Given the description of an element on the screen output the (x, y) to click on. 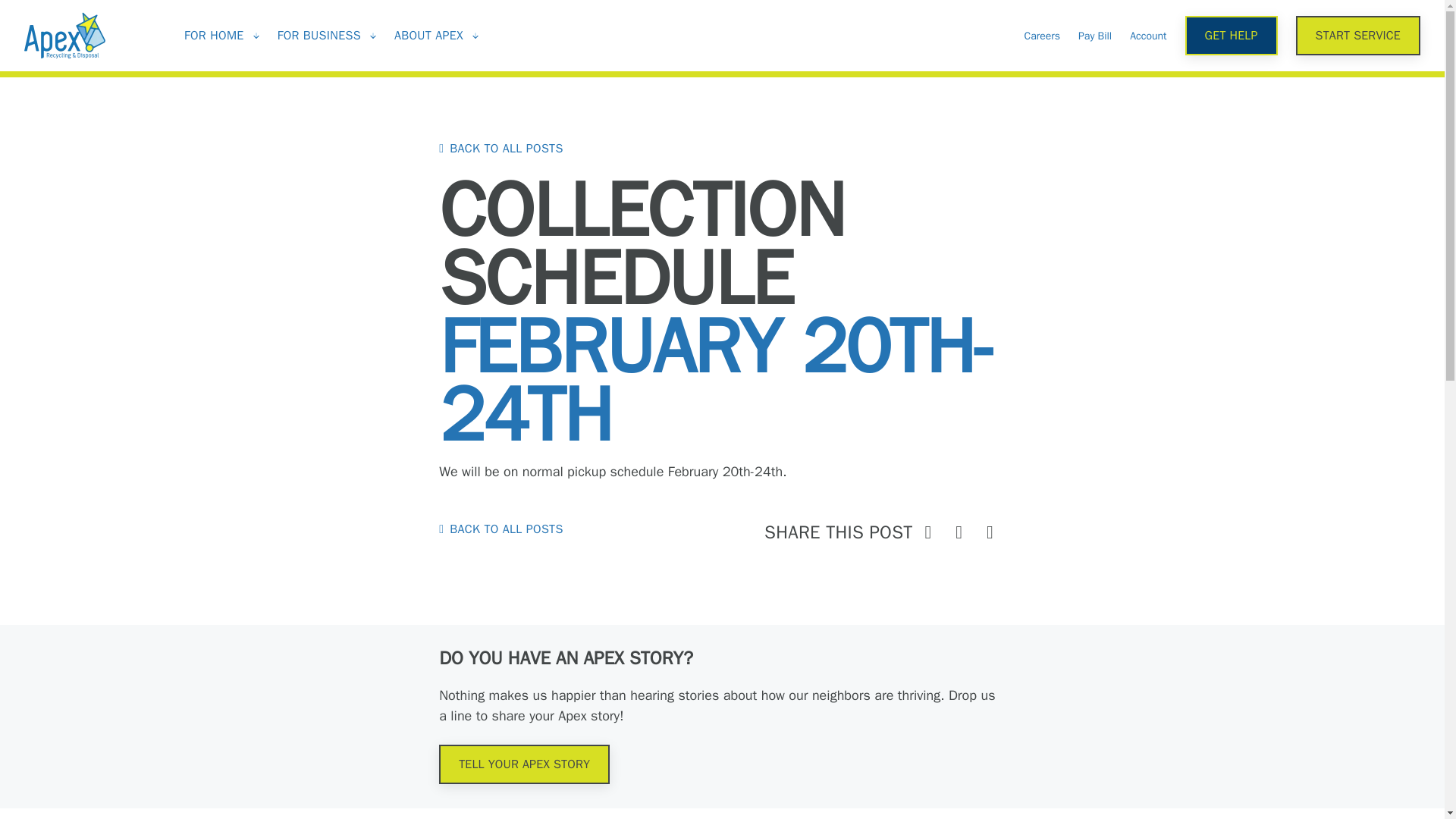
GET HELP (1231, 35)
Careers (1041, 35)
FOR HOME (214, 35)
Pay Bill (1095, 35)
ABOUT APEX (428, 35)
FOR BUSINESS (319, 35)
Account (1147, 35)
START SERVICE (1358, 35)
